Given the description of an element on the screen output the (x, y) to click on. 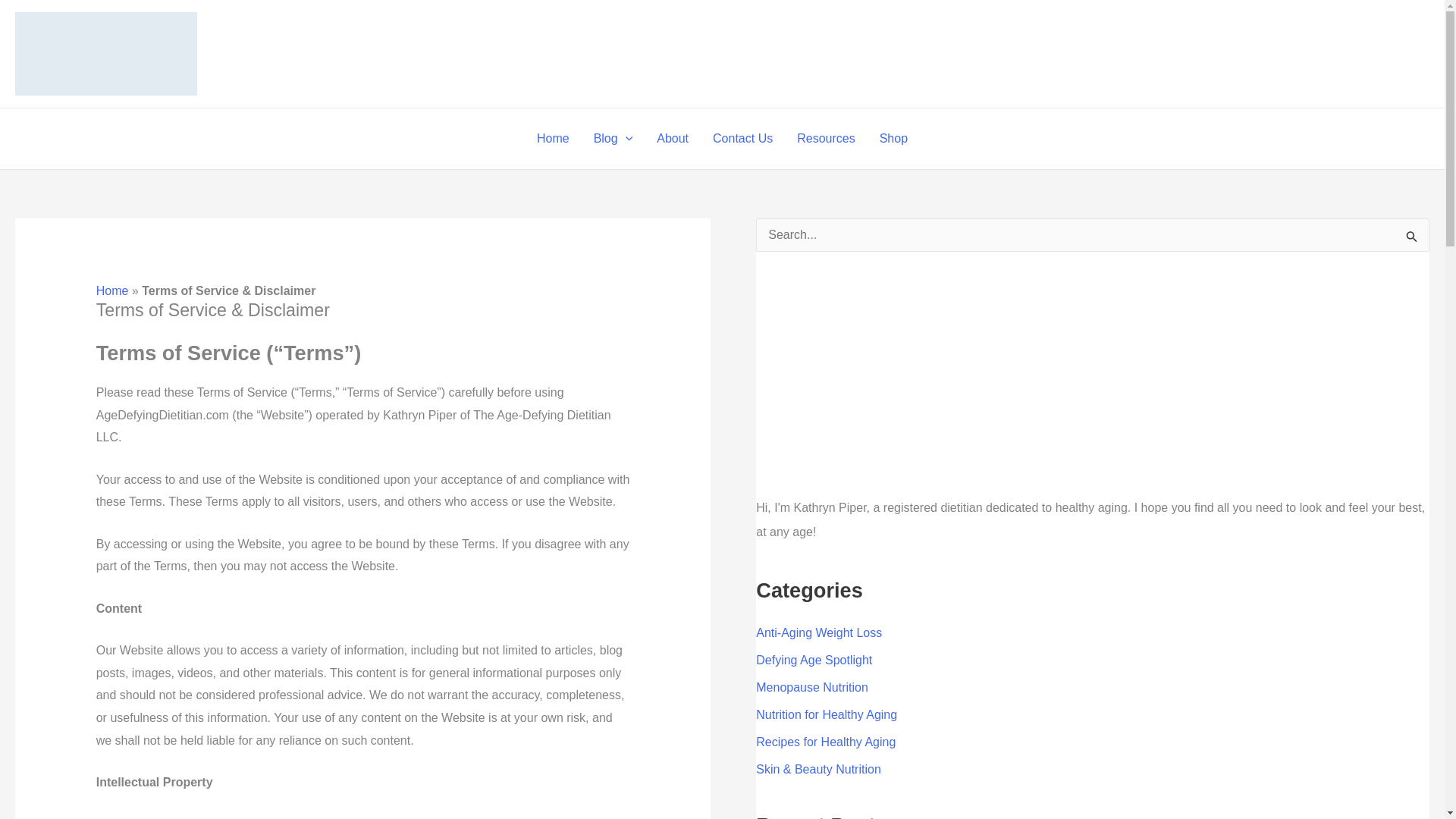
Nutrition for Healthy Aging (825, 714)
Recipes for Healthy Aging (825, 741)
Menopause Nutrition (811, 686)
Anti-Aging Weight Loss (818, 632)
Blog (612, 138)
Defying Age Spotlight (813, 659)
Contact Us (742, 138)
Home (112, 290)
Resources (825, 138)
Home (552, 138)
